Given the description of an element on the screen output the (x, y) to click on. 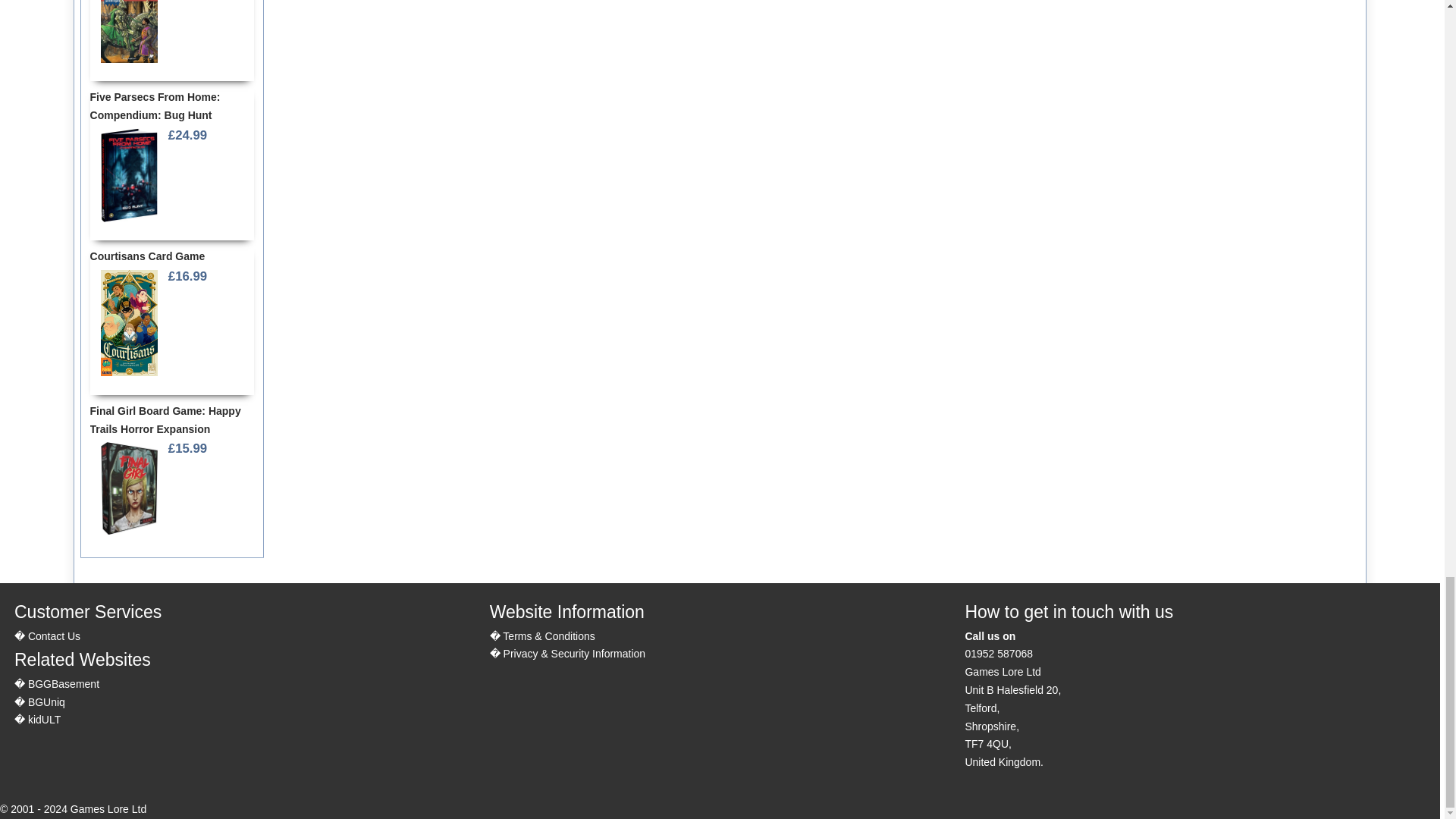
Five Parsecs From Home: Compendium: Bug Hunt (128, 175)
King Arthur Pendragon RPG: Player's Handbook (128, 33)
